Given the description of an element on the screen output the (x, y) to click on. 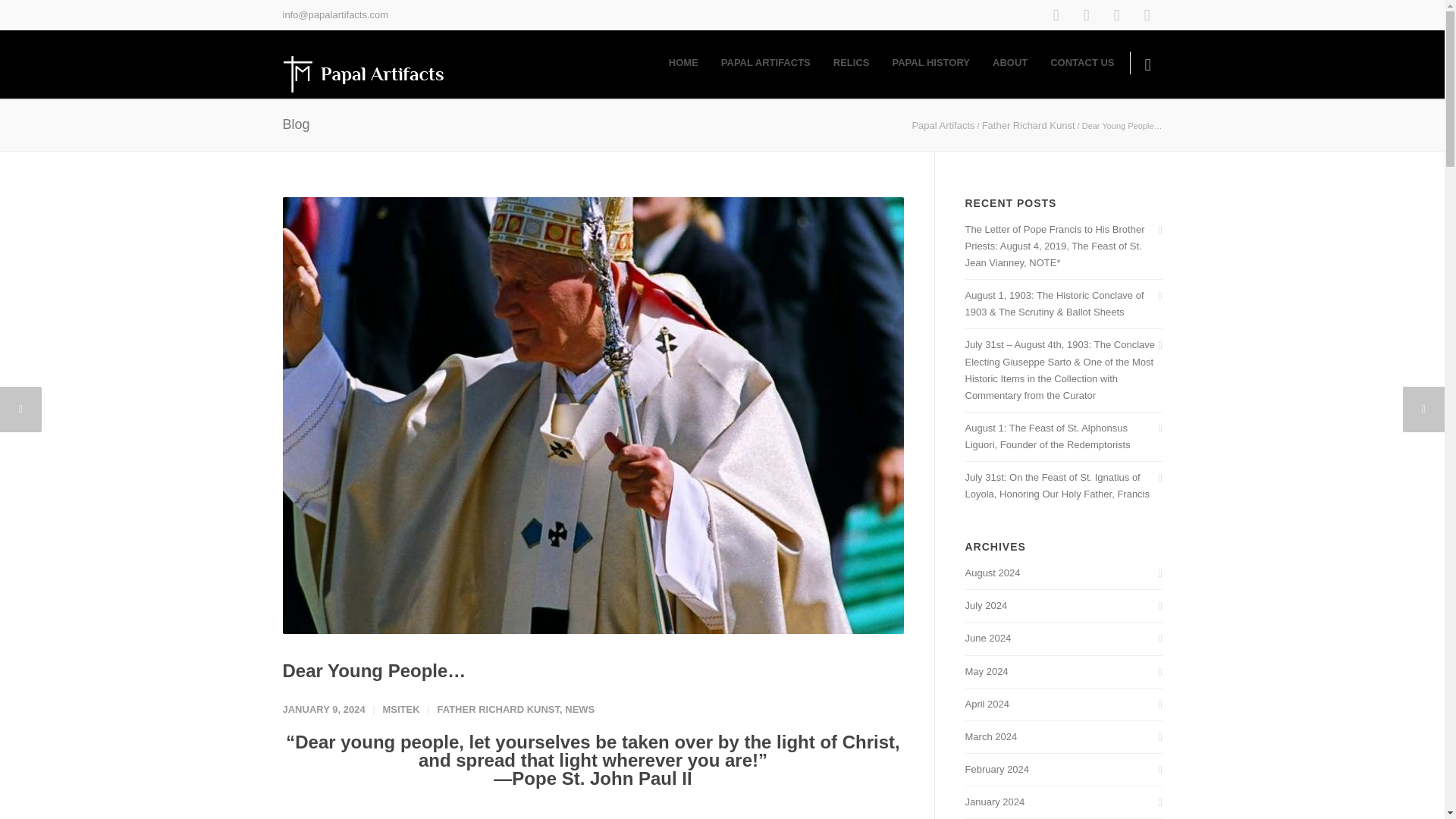
PAPAL HISTORY (930, 62)
RELICS (851, 62)
RSS (1115, 15)
View all posts by msitek (400, 708)
HOME (684, 62)
CONTACT US (1082, 62)
ABOUT (1010, 62)
PAPAL ARTIFACTS (766, 62)
Facebook (1055, 15)
YouTube (1146, 15)
